Given the description of an element on the screen output the (x, y) to click on. 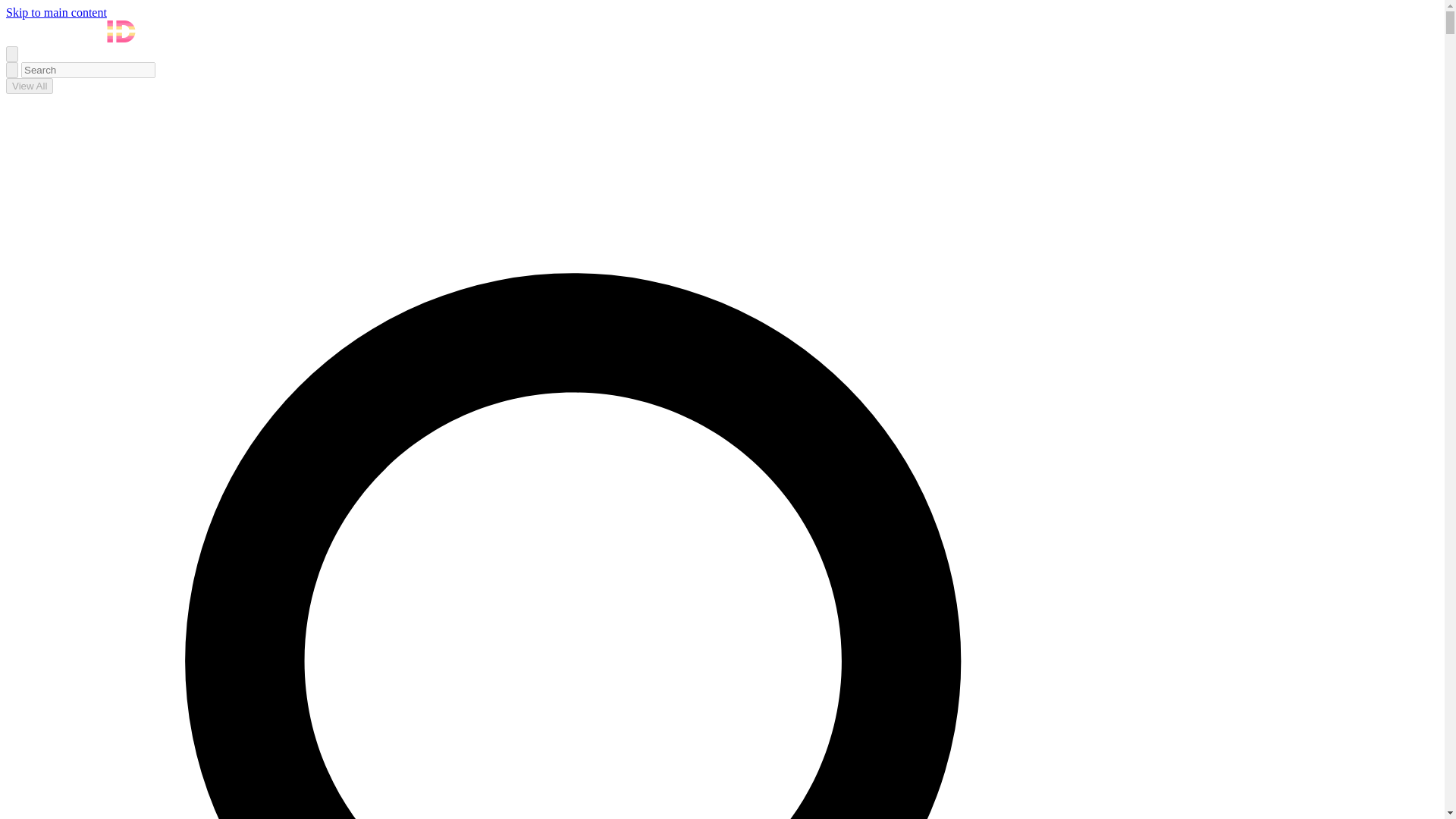
Skip to main content (55, 11)
Expand Header Menu (11, 53)
View All (28, 85)
